Given the description of an element on the screen output the (x, y) to click on. 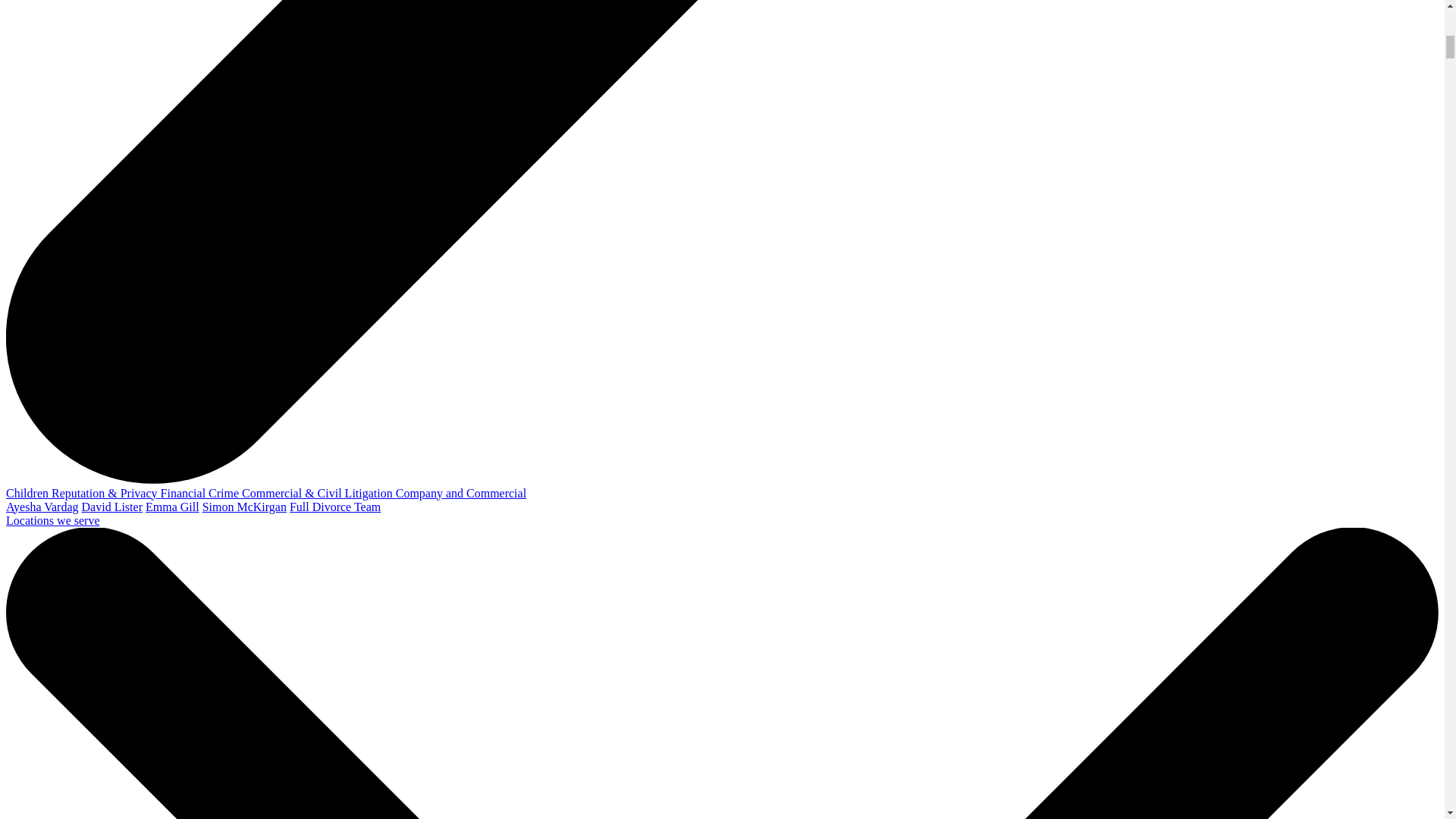
Ayesha Vardag (41, 506)
Simon McKirgan (244, 506)
Emma Gill (172, 506)
David Lister (111, 506)
Company and Commercial (460, 492)
David Lister (111, 506)
Full Divorce Team (334, 506)
Simon McKirgan (244, 506)
Ayesha Vardag (41, 506)
Financial Crime (201, 492)
